Given the description of an element on the screen output the (x, y) to click on. 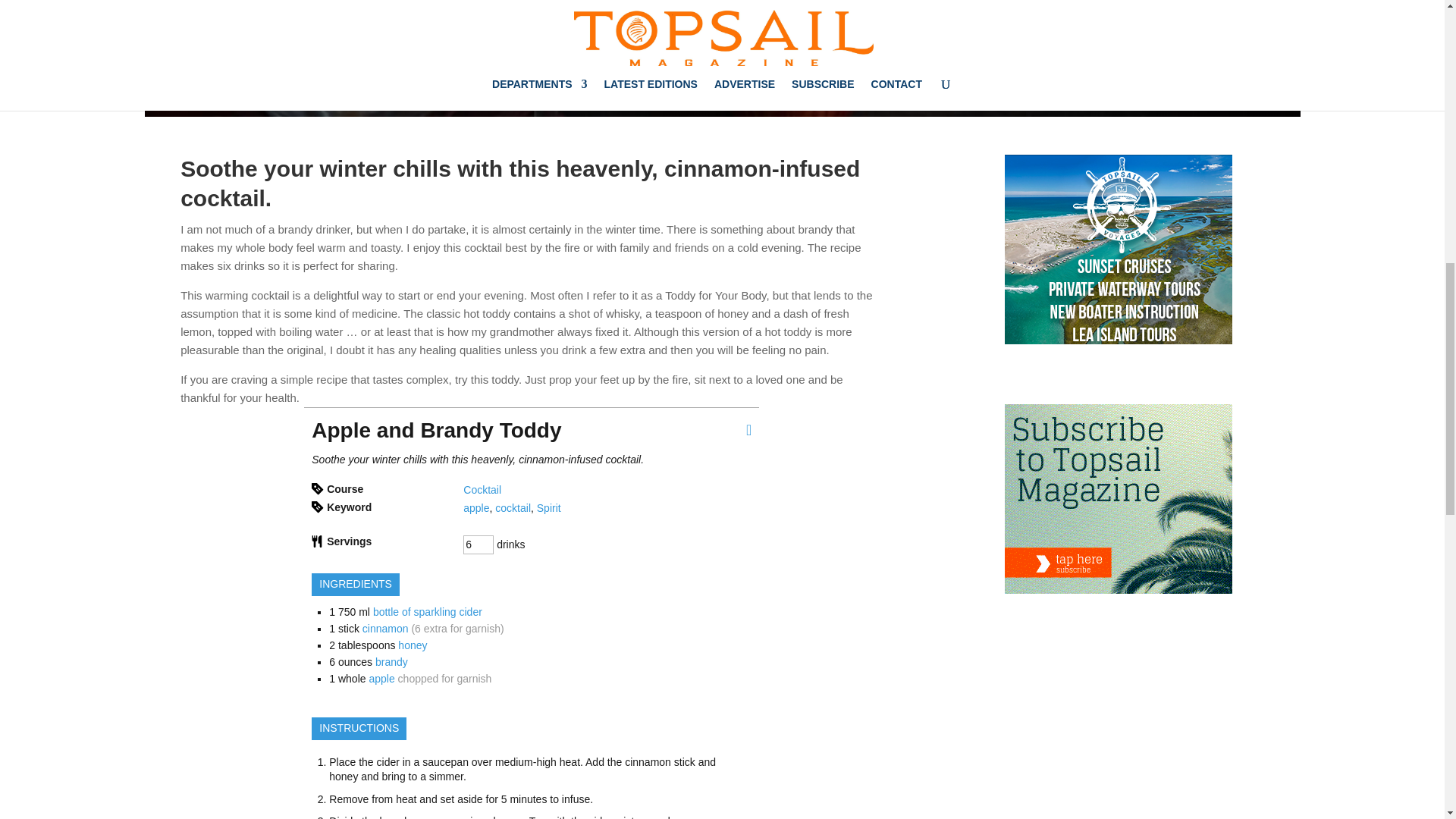
cocktail (513, 508)
Spirit (548, 508)
bottle of sparkling cider (426, 612)
Recipes (883, 56)
Cocktail (481, 490)
6 (478, 545)
Posts by Sandi Grigg (496, 56)
Topsail Island (960, 56)
Online Exclusives (793, 56)
Subscribe to Topsail Magazine (1117, 501)
Sandi Grigg (496, 56)
apple (476, 508)
Topsail Voyages (1117, 252)
